Given the description of an element on the screen output the (x, y) to click on. 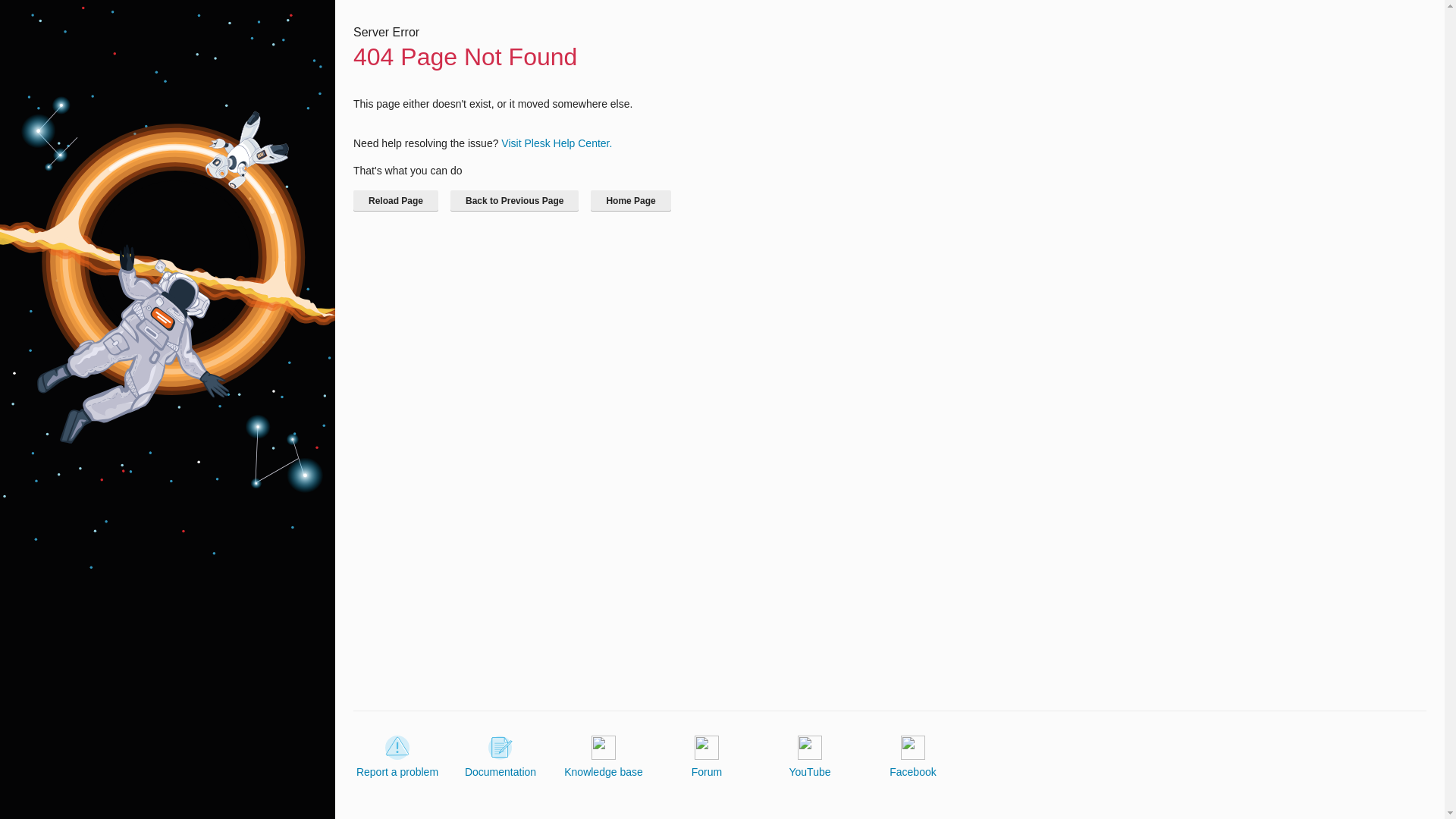
Reload Page (395, 200)
Back to Previous Page (513, 200)
Forum (706, 757)
Visit Plesk Help Center. (555, 143)
Report a problem (397, 757)
YouTube (809, 757)
Knowledge base (603, 757)
Facebook (912, 757)
Documentation (500, 757)
Home Page (630, 200)
